Given the description of an element on the screen output the (x, y) to click on. 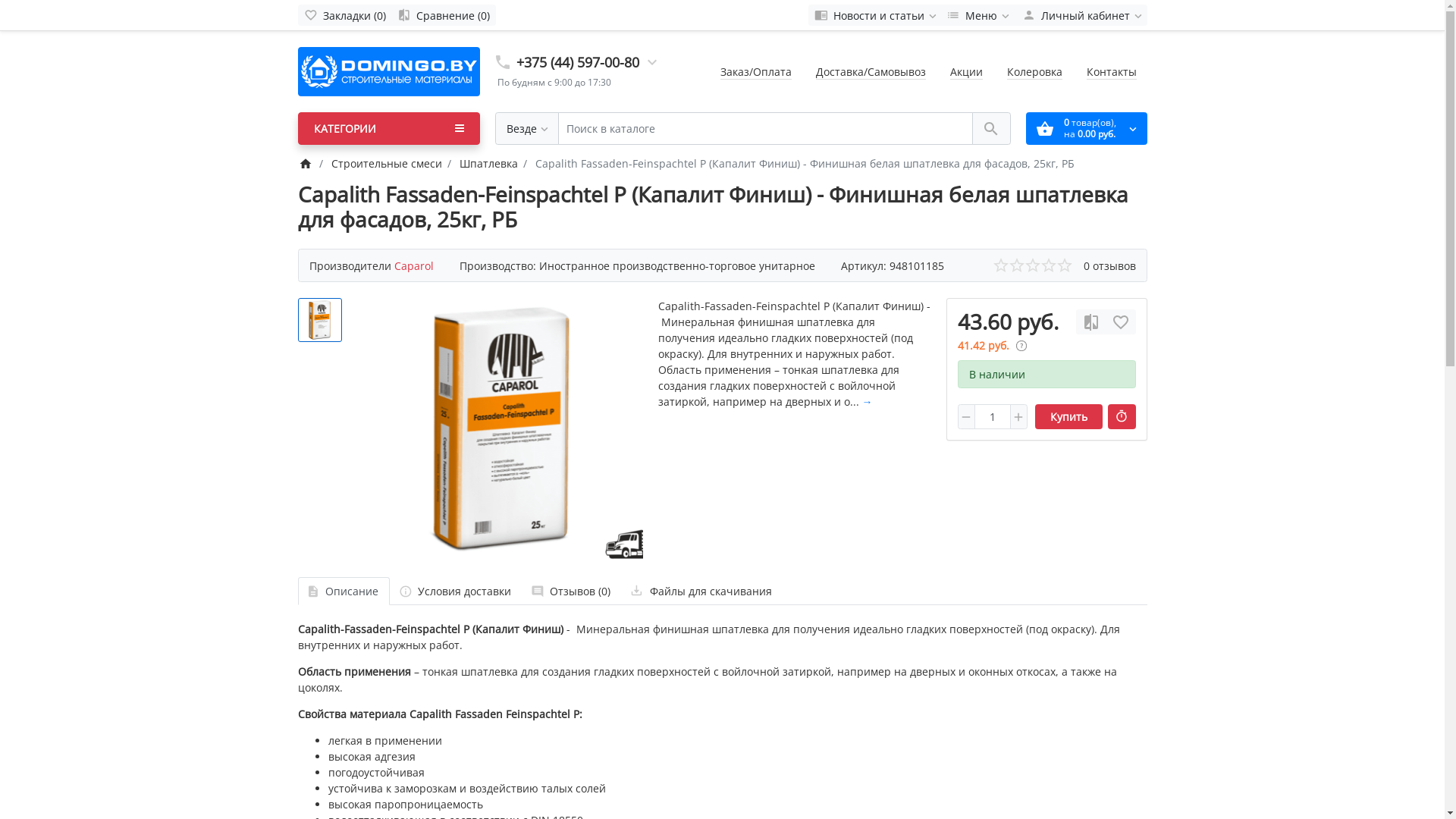
Caparol Element type: text (413, 265)
